Given the description of an element on the screen output the (x, y) to click on. 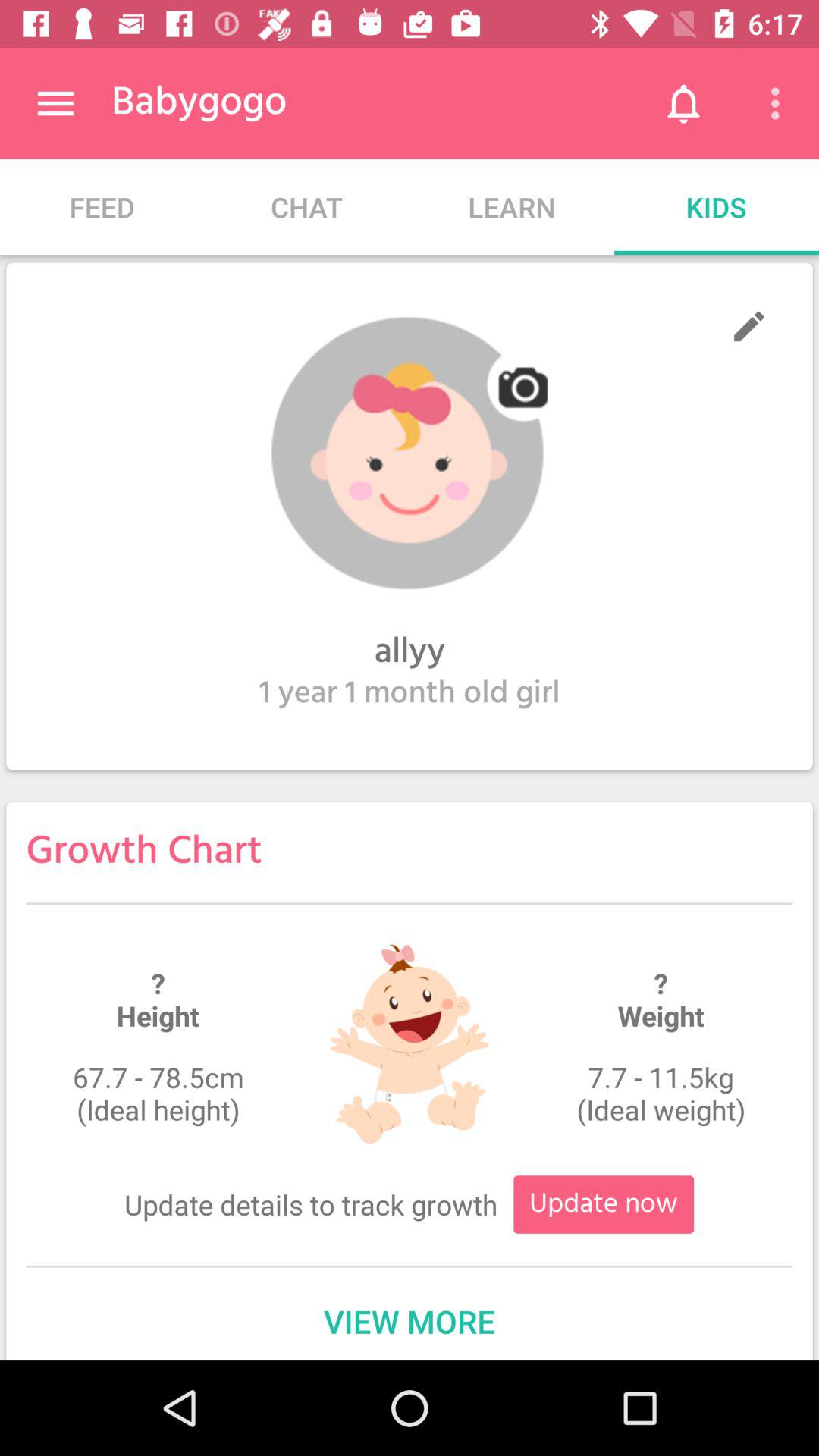
user profile picture (409, 453)
